Given the description of an element on the screen output the (x, y) to click on. 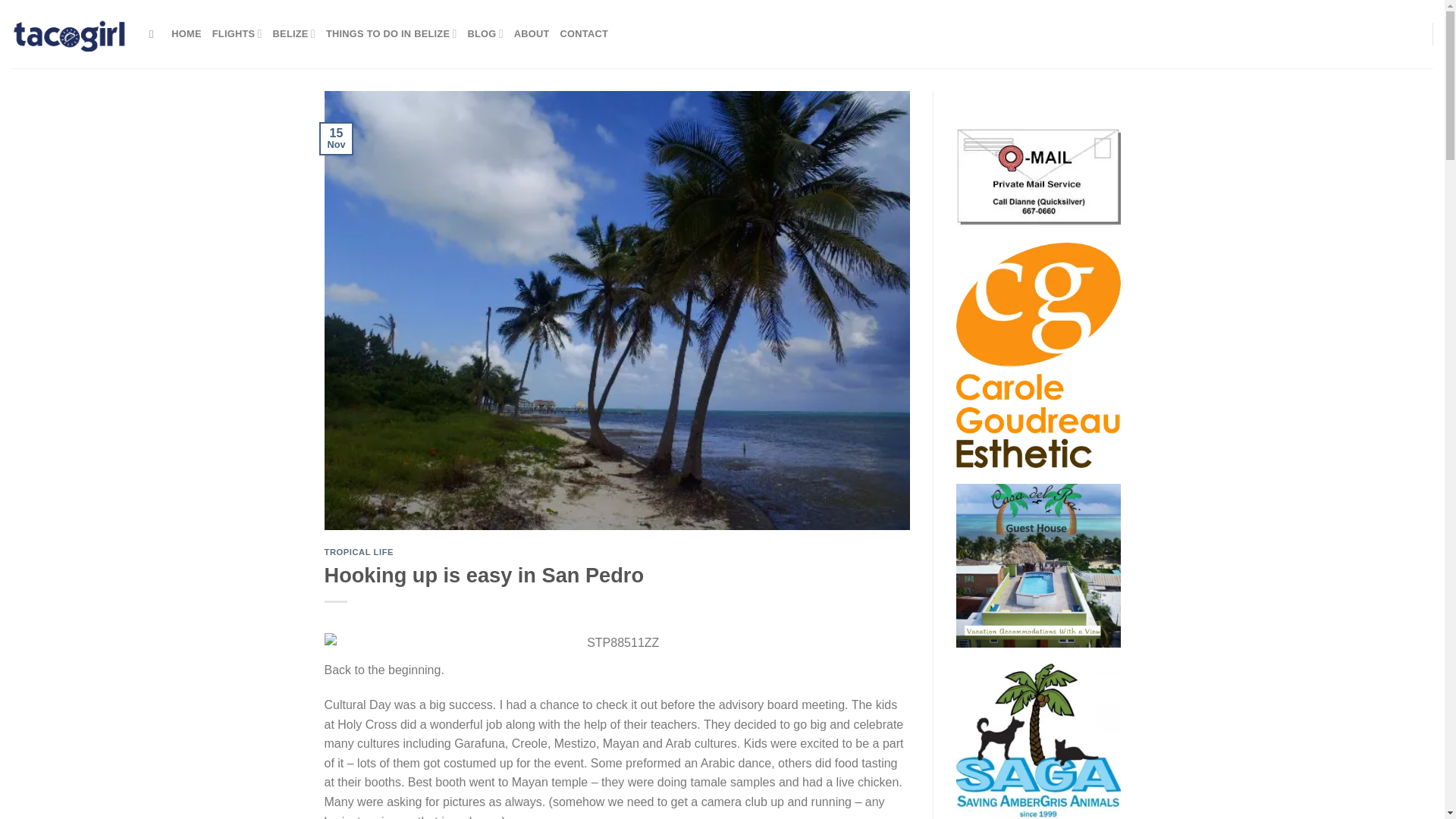
BLOG (484, 33)
THINGS TO DO IN BELIZE (391, 33)
BELIZE (294, 33)
TROPICAL LIFE (359, 551)
ABOUT (531, 33)
tacogirl Belize - Blogging Belize since 2007 (68, 33)
CONTACT (584, 33)
HOME (185, 33)
FLIGHTS (237, 33)
